Given the description of an element on the screen output the (x, y) to click on. 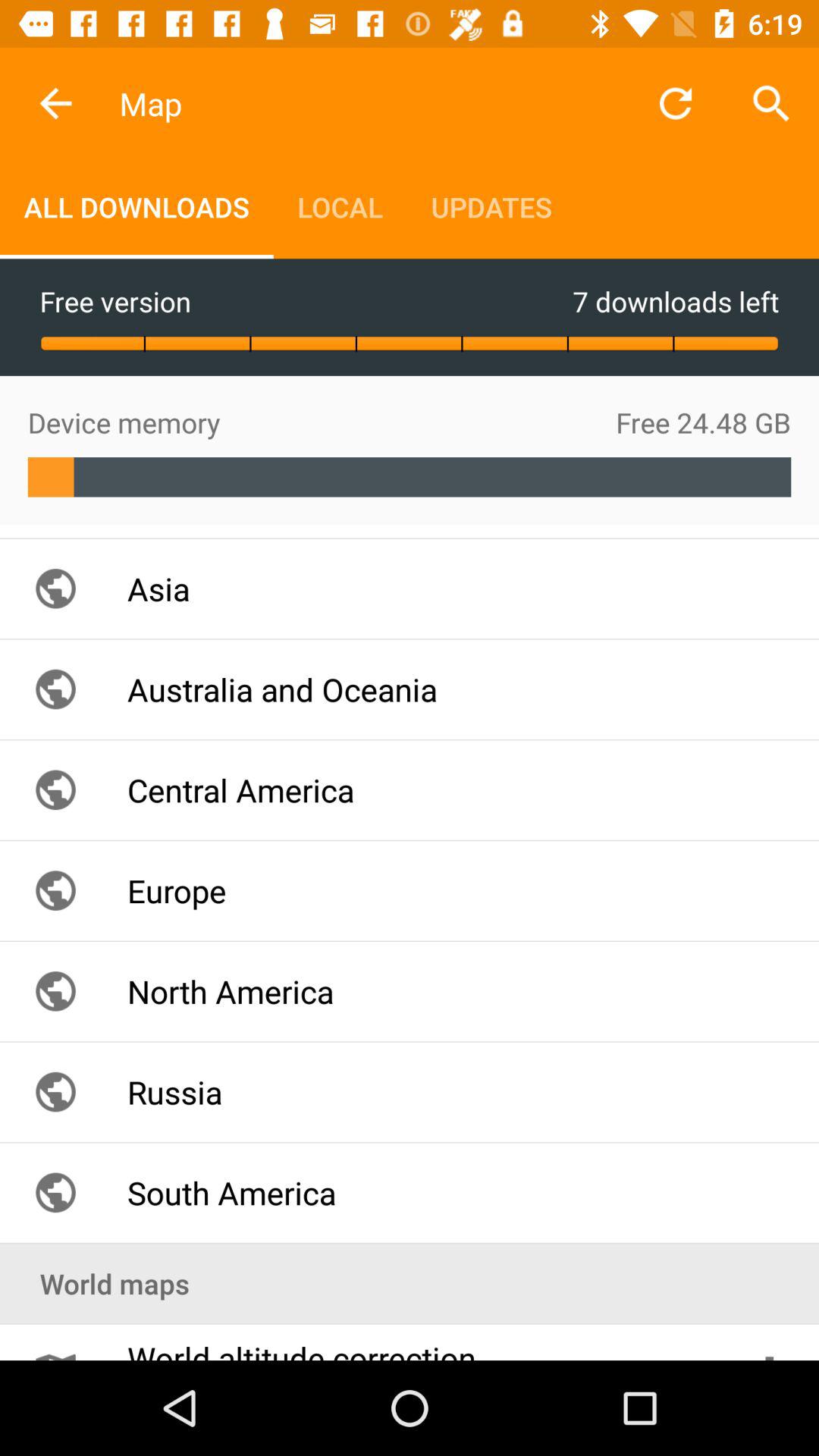
launch item to the right of world altitude correction item (769, 1342)
